Given the description of an element on the screen output the (x, y) to click on. 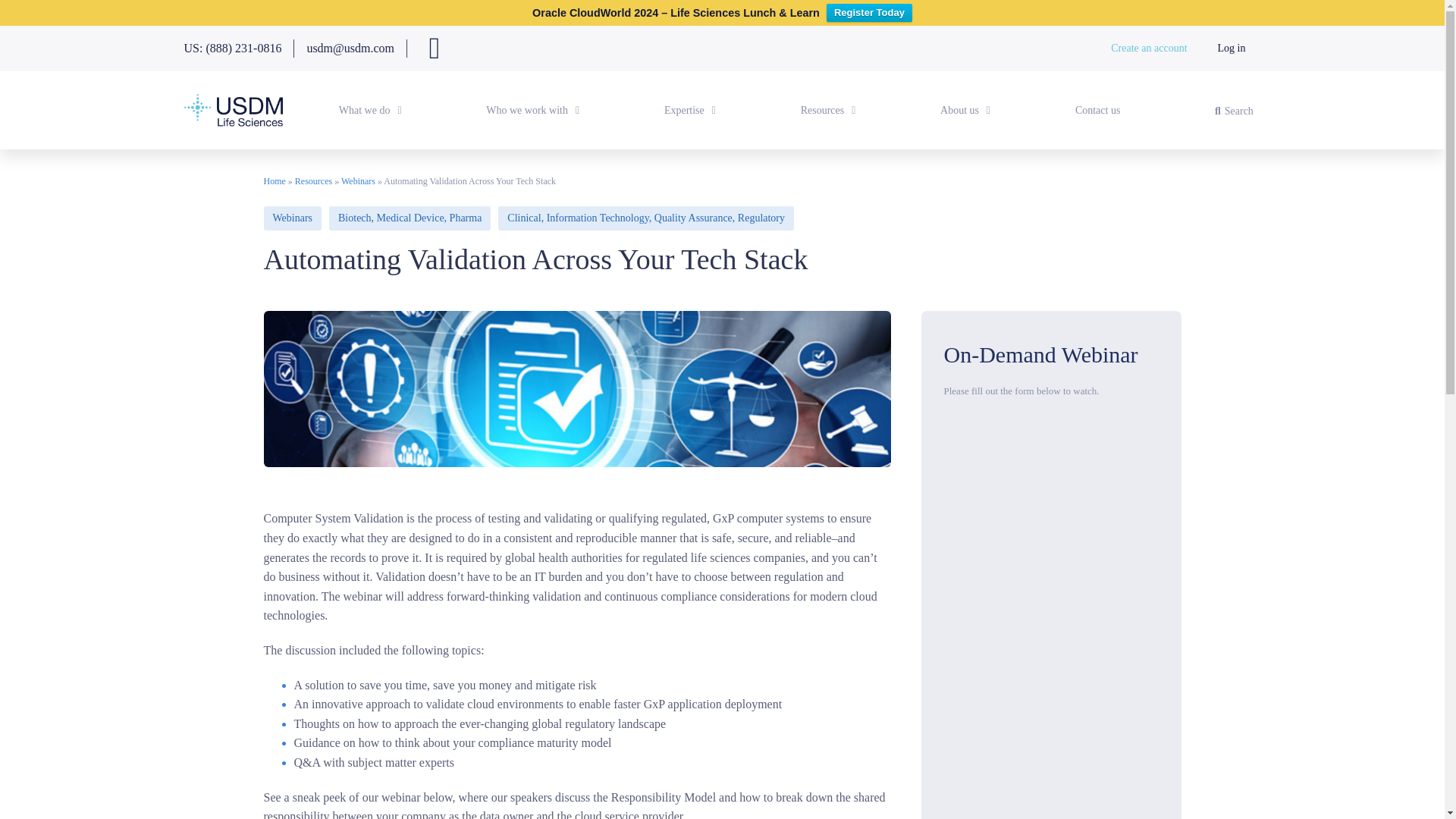
Register Today (869, 13)
Create an account (1149, 48)
What we do (370, 110)
Log in (1231, 48)
